Given the description of an element on the screen output the (x, y) to click on. 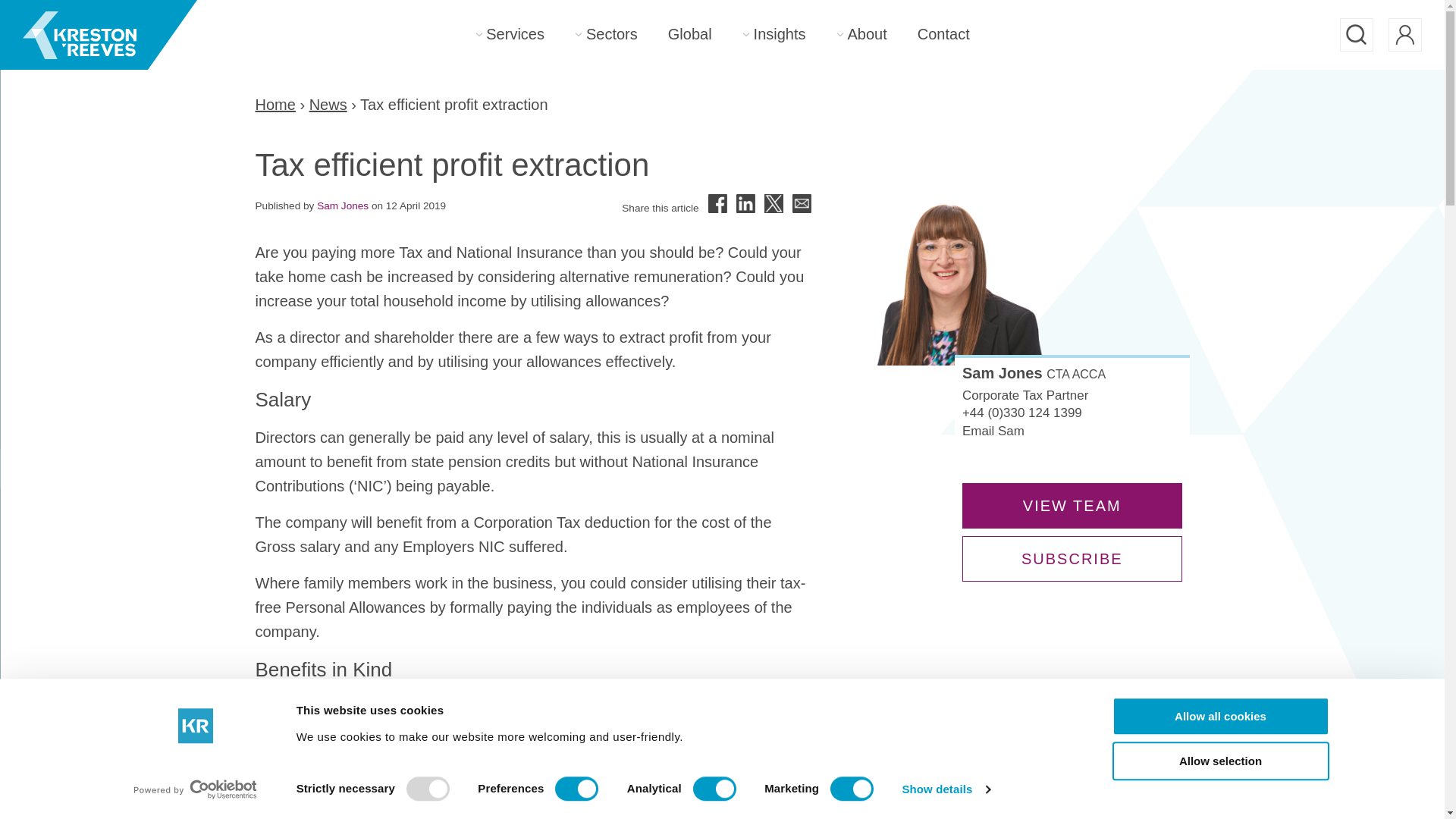
Show details (945, 789)
